Given the description of an element on the screen output the (x, y) to click on. 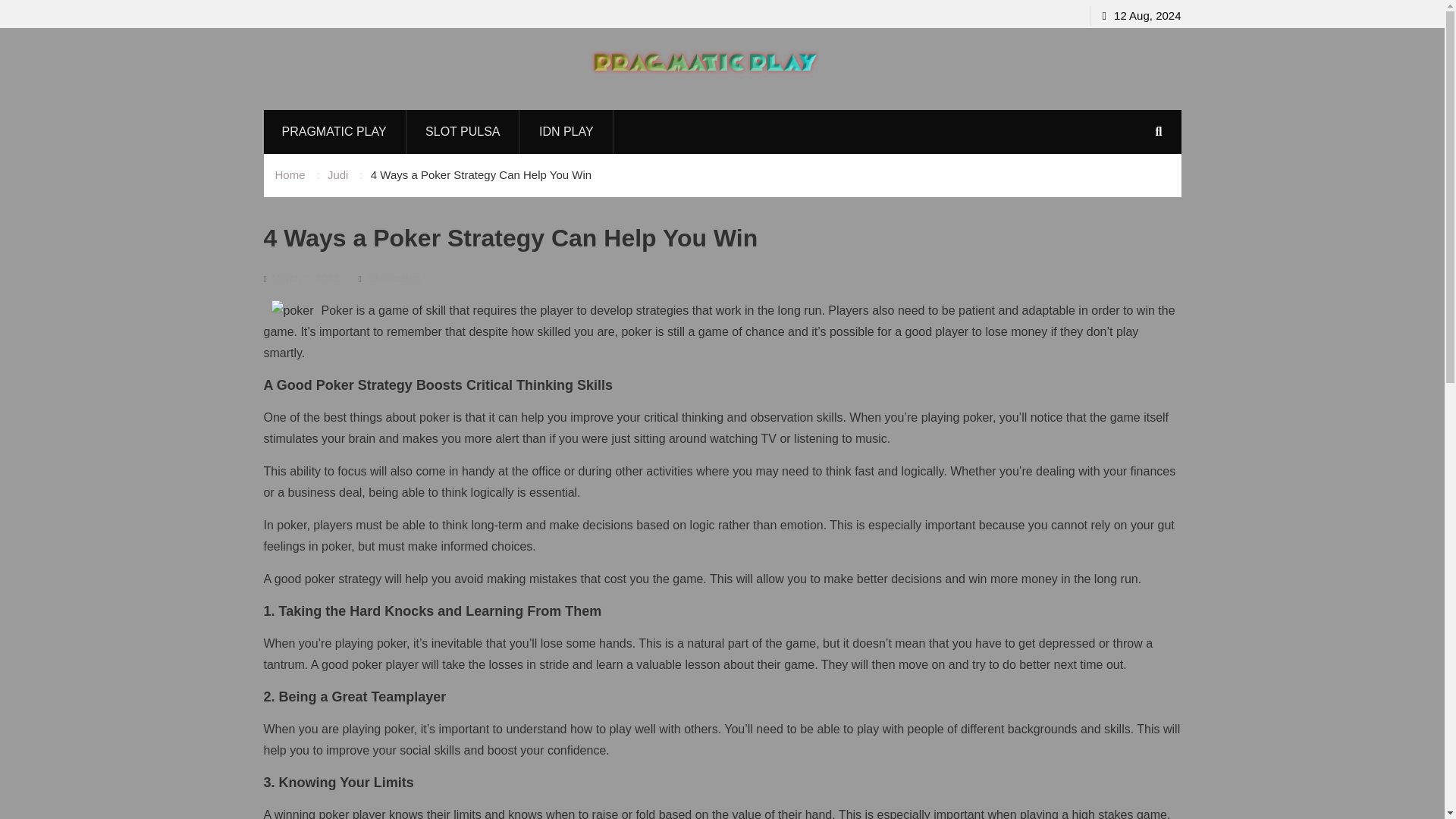
Judi (338, 174)
admincabot (393, 277)
SLOT PULSA (462, 131)
March 1, 2023 (304, 277)
IDN PLAY (565, 131)
Home (289, 174)
PRAGMATIC PLAY (334, 131)
